Given the description of an element on the screen output the (x, y) to click on. 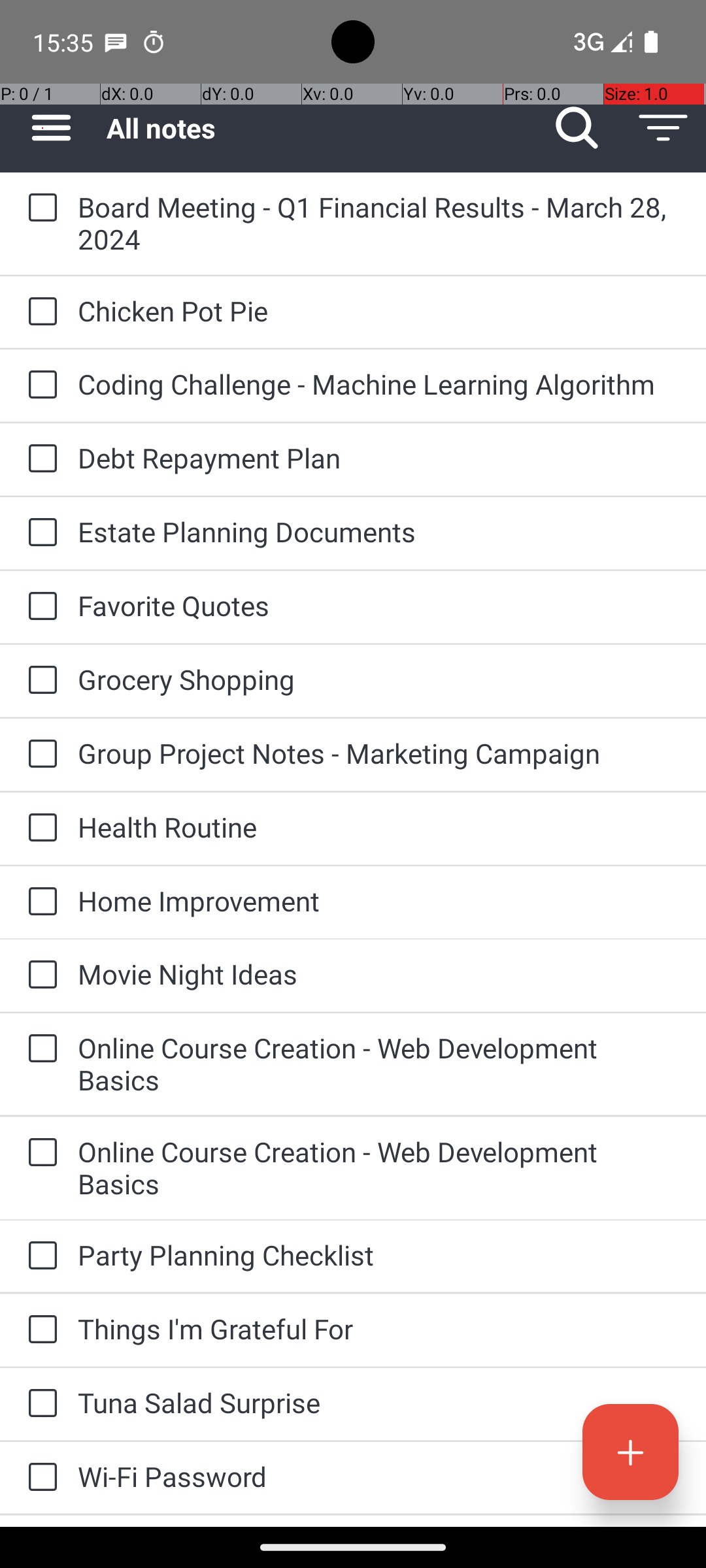
to-do: Chicken Pot Pie Element type: android.widget.CheckBox (38, 312)
Chicken Pot Pie Element type: android.widget.TextView (378, 310)
to-do: Debt Repayment Plan Element type: android.widget.CheckBox (38, 459)
Debt Repayment Plan Element type: android.widget.TextView (378, 457)
to-do: Estate Planning Documents Element type: android.widget.CheckBox (38, 533)
Estate Planning Documents Element type: android.widget.TextView (378, 531)
to-do: Favorite Quotes Element type: android.widget.CheckBox (38, 606)
Favorite Quotes Element type: android.widget.TextView (378, 604)
to-do: Grocery Shopping Element type: android.widget.CheckBox (38, 680)
to-do: Health Routine Element type: android.widget.CheckBox (38, 828)
to-do: Home Improvement Element type: android.widget.CheckBox (38, 902)
Home Improvement Element type: android.widget.TextView (378, 900)
to-do: Movie Night Ideas Element type: android.widget.CheckBox (38, 975)
Movie Night Ideas Element type: android.widget.TextView (378, 973)
to-do: Party Planning Checklist Element type: android.widget.CheckBox (38, 1256)
Party Planning Checklist Element type: android.widget.TextView (378, 1254)
to-do: Things I'm Grateful For Element type: android.widget.CheckBox (38, 1330)
Things I'm Grateful For Element type: android.widget.TextView (378, 1328)
to-do: Tuna Salad Surprise Element type: android.widget.CheckBox (38, 1404)
Tuna Salad Surprise Element type: android.widget.TextView (378, 1402)
to-do: Wi-Fi Password Element type: android.widget.CheckBox (38, 1477)
Wi-Fi Password Element type: android.widget.TextView (378, 1475)
to-do: Bucket List Element type: android.widget.CheckBox (38, 1520)
